Given the description of an element on the screen output the (x, y) to click on. 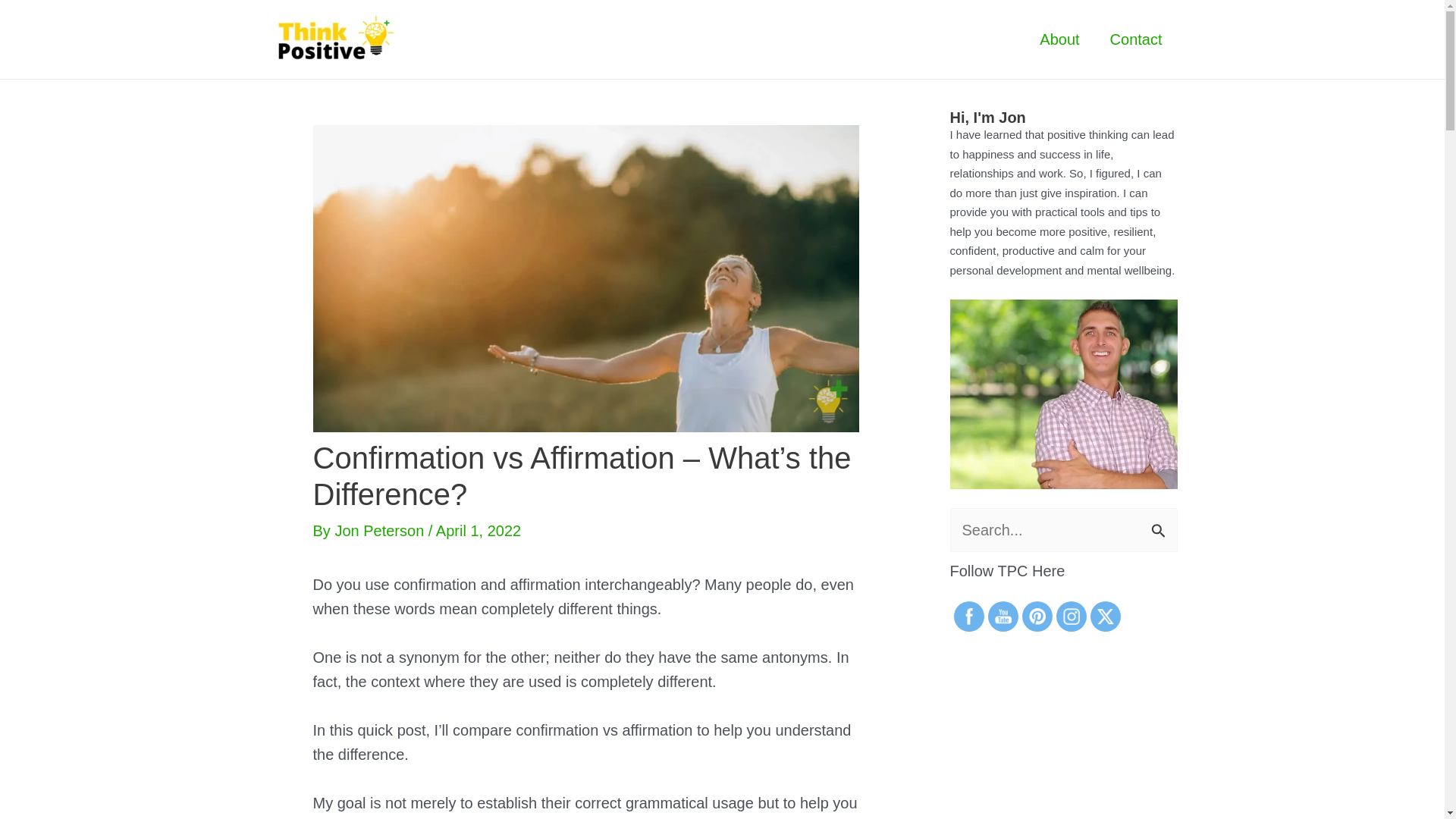
Jon Peterson (381, 530)
Twitter (1104, 616)
View all posts by Jon Peterson (381, 530)
YouTube (1002, 616)
Facebook (967, 616)
Search (1159, 524)
Instagram (1071, 616)
Search (1159, 524)
Search (1159, 524)
Contact (1135, 39)
Pinterest (1036, 616)
About (1059, 39)
